Given the description of an element on the screen output the (x, y) to click on. 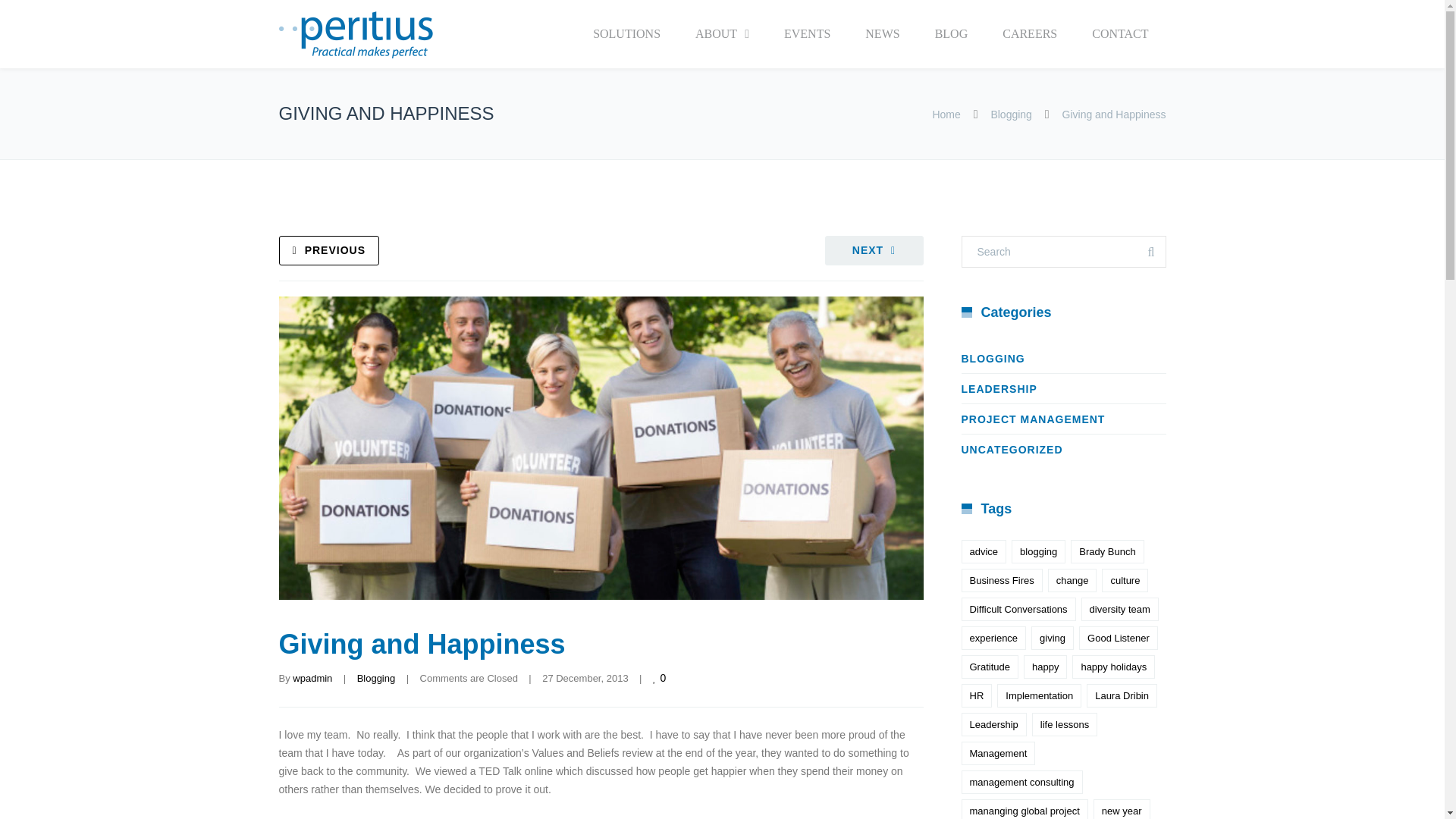
Posts by wpadmin (311, 677)
NEXT (874, 250)
SOLUTIONS (626, 33)
Blogging (1011, 114)
BLOG (951, 33)
Giving and Happiness (422, 644)
CONTACT (1120, 33)
Home (945, 114)
NEWS (882, 33)
ABOUT (722, 33)
Peritius Management Consulting Firm (355, 34)
wpadmin (311, 677)
Blogging (376, 677)
PREVIOUS (328, 250)
EVENTS (807, 33)
